Given the description of an element on the screen output the (x, y) to click on. 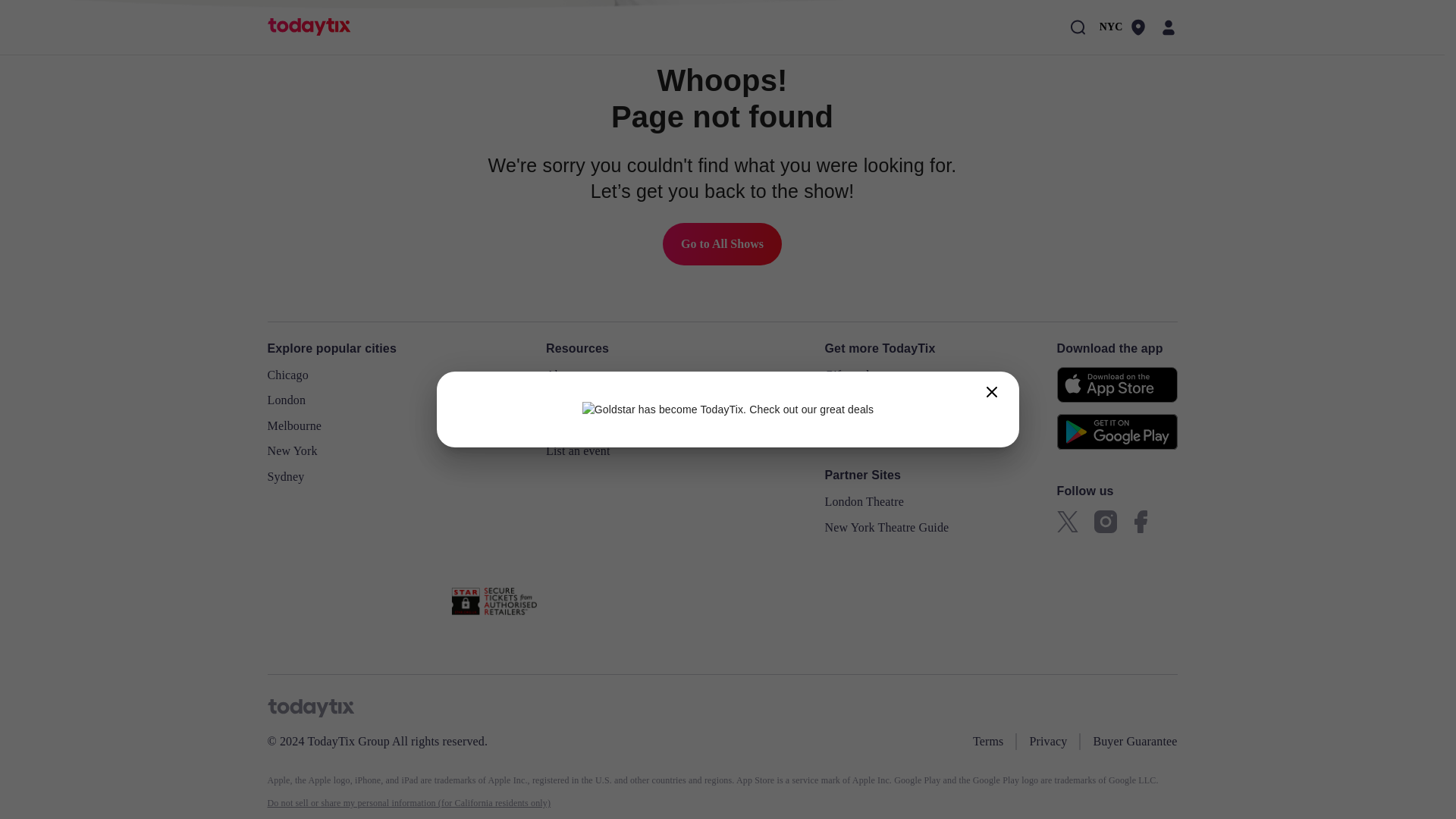
Go to All Shows (721, 243)
